Given the description of an element on the screen output the (x, y) to click on. 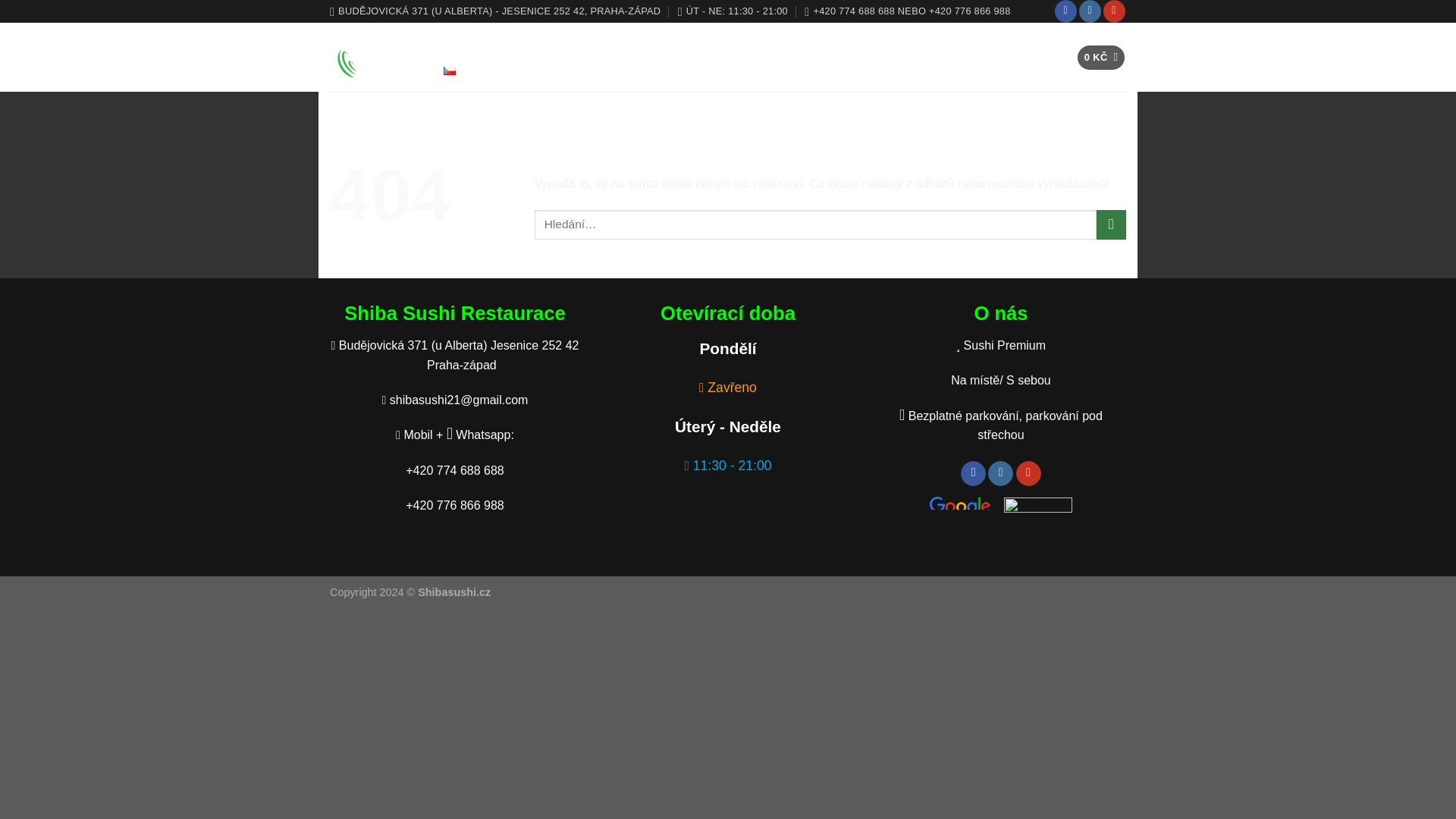
VIDEO (834, 42)
Whatsapp (478, 434)
MENU PDF (762, 42)
Shiba Sushi Restaurace (370, 56)
GALERIE (900, 42)
KONTAKT (979, 42)
OBJEDNAT ONLINE (650, 42)
